Given the description of an element on the screen output the (x, y) to click on. 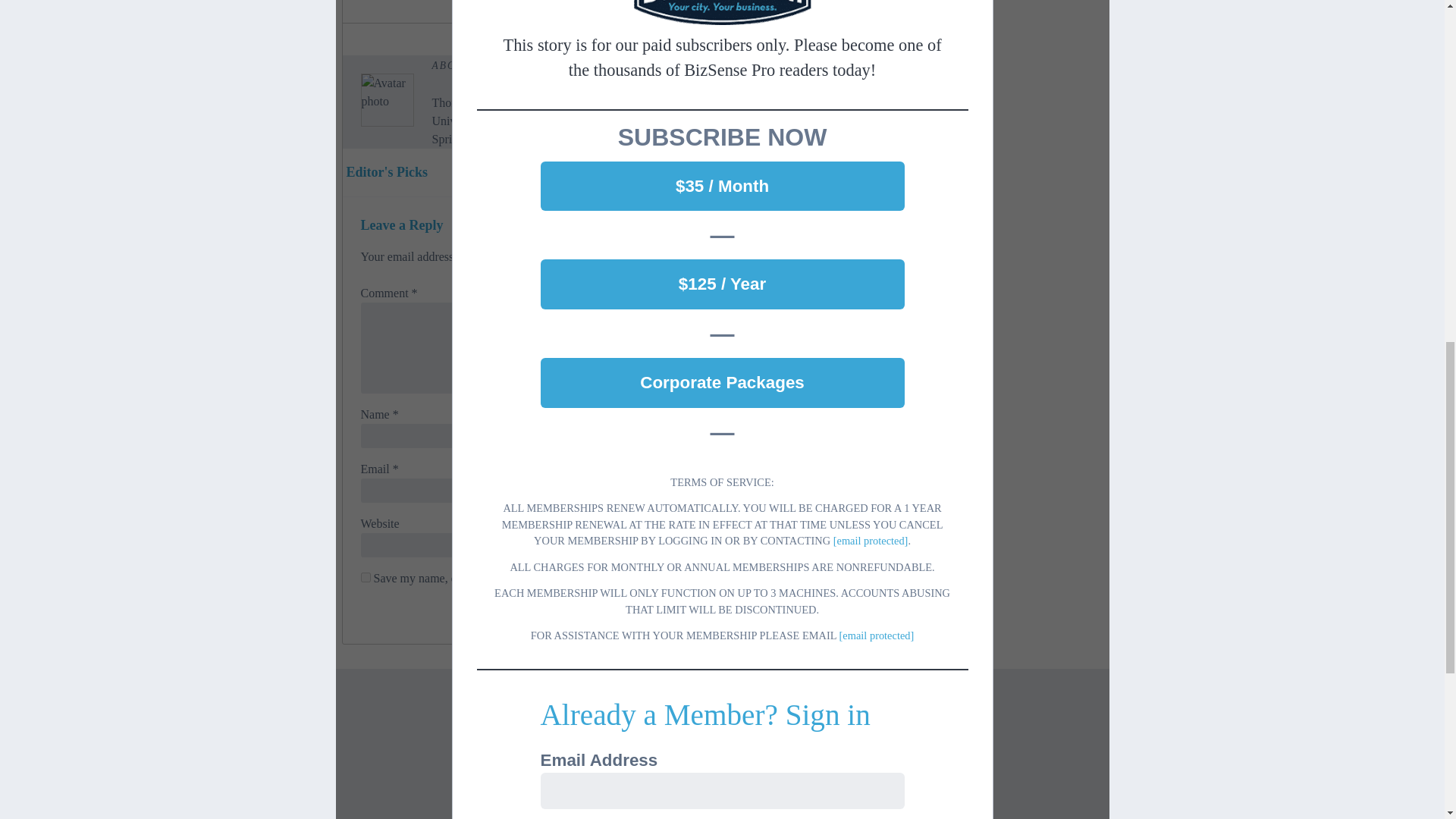
Post Comment (791, 612)
Posts by Thomas Gounley (620, 65)
yes (366, 577)
